Given the description of an element on the screen output the (x, y) to click on. 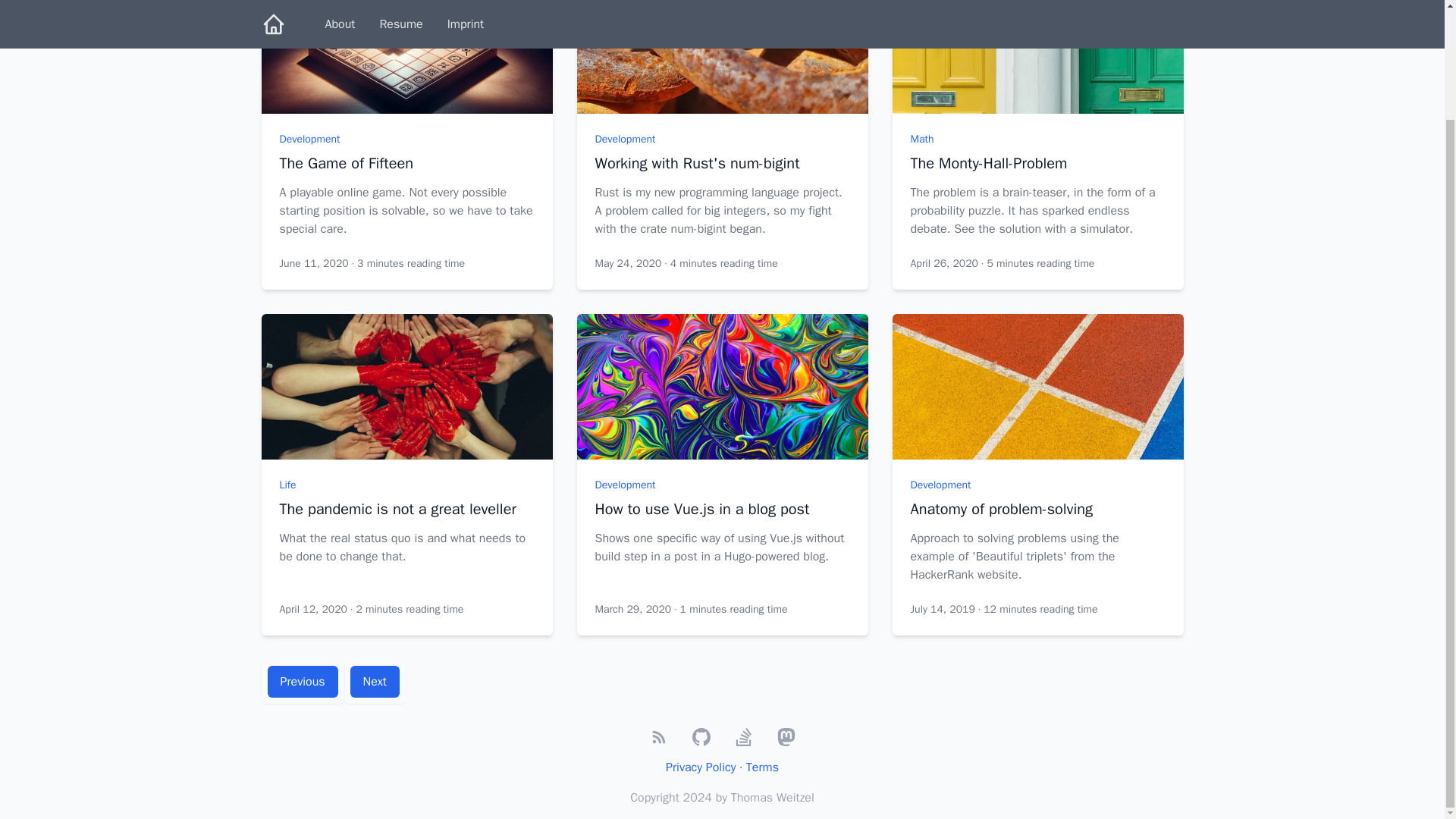
Mastodon (785, 737)
Previous (301, 681)
Github (700, 737)
Anatomy of problem-solving (1037, 509)
Stackoverflow (742, 737)
The Game of Fifteen (406, 163)
Working with Rust's num-bigint (721, 163)
Development (624, 138)
The Monty-Hall-Problem (1037, 163)
How to use Vue.js in a blog post (721, 509)
The pandemic is not a great leveller (406, 509)
Rss feed (657, 737)
Development (309, 138)
github (700, 737)
Terms (761, 767)
